Given the description of an element on the screen output the (x, y) to click on. 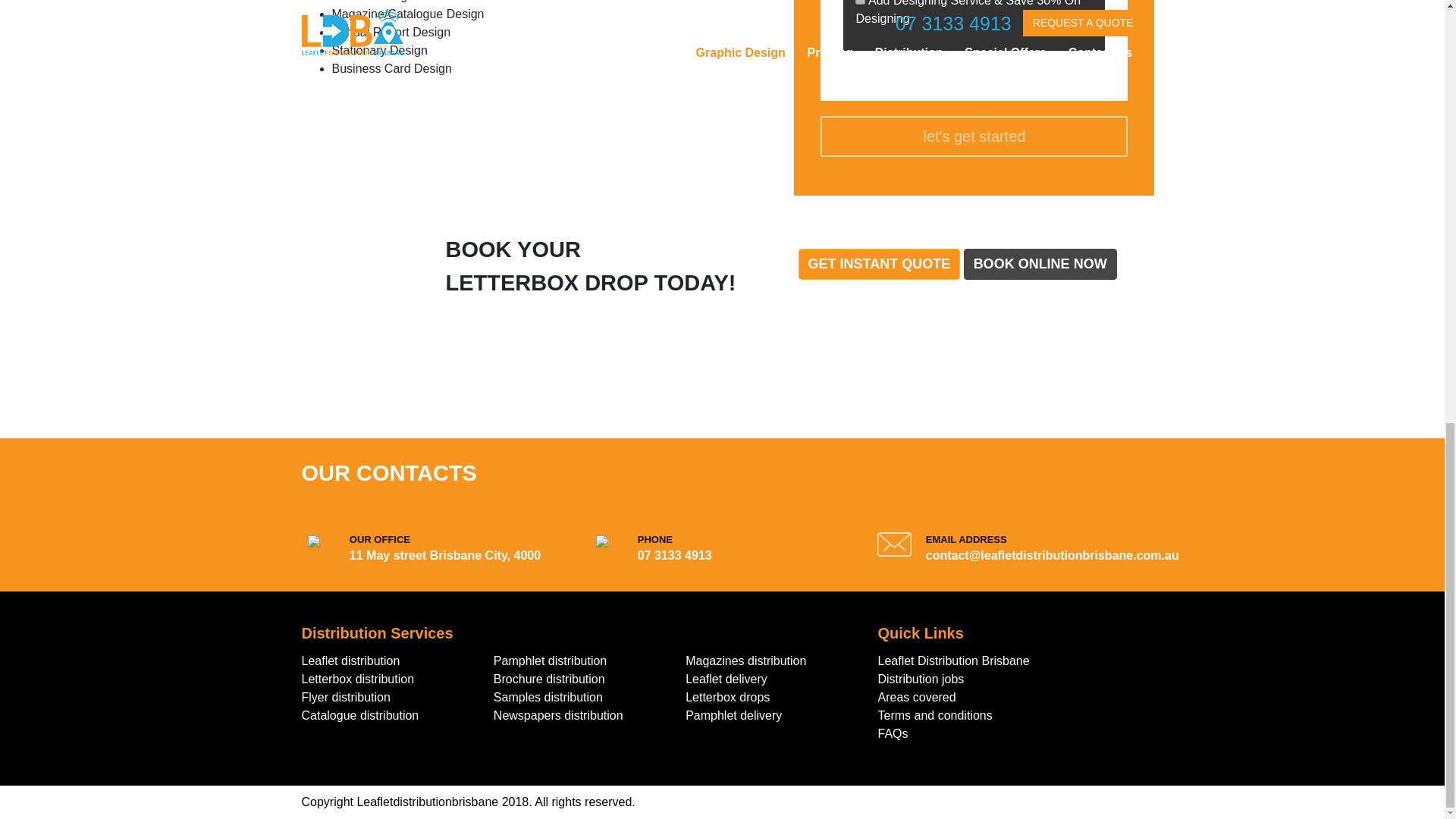
Terms and conditions (934, 715)
07 3133 4913 (674, 554)
let's get started (973, 136)
Flyer distribution (345, 697)
Samples distribution (547, 697)
Brochure distribution (549, 678)
Leaflet distribution (350, 660)
Leaflet delivery (726, 678)
Catalogue distribution (360, 715)
Letterbox drops (727, 697)
